Given the description of an element on the screen output the (x, y) to click on. 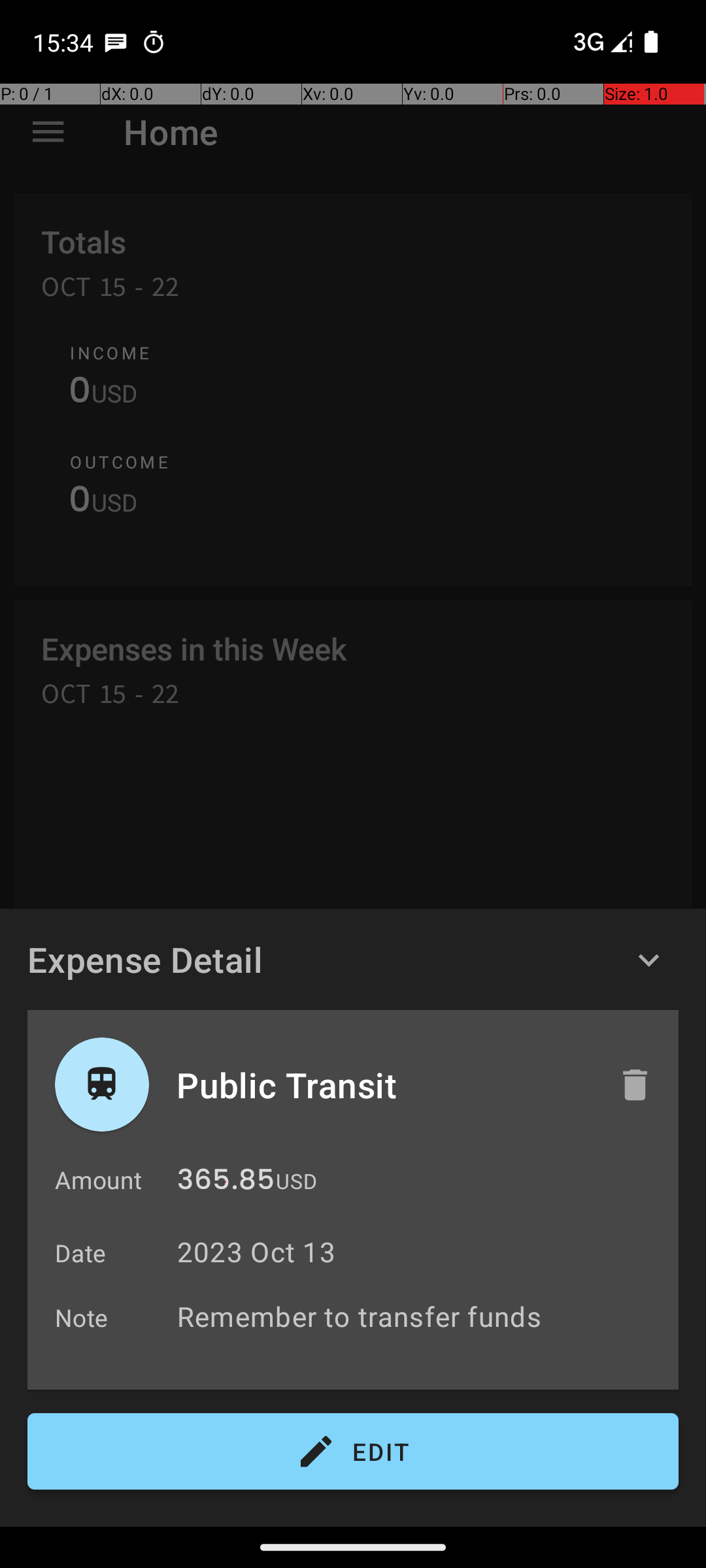
Public Transit Element type: android.widget.TextView (383, 1084)
365.85 Element type: android.widget.TextView (225, 1182)
SMS Messenger notification: Sophie Gonzalez Element type: android.widget.ImageView (115, 41)
